Given the description of an element on the screen output the (x, y) to click on. 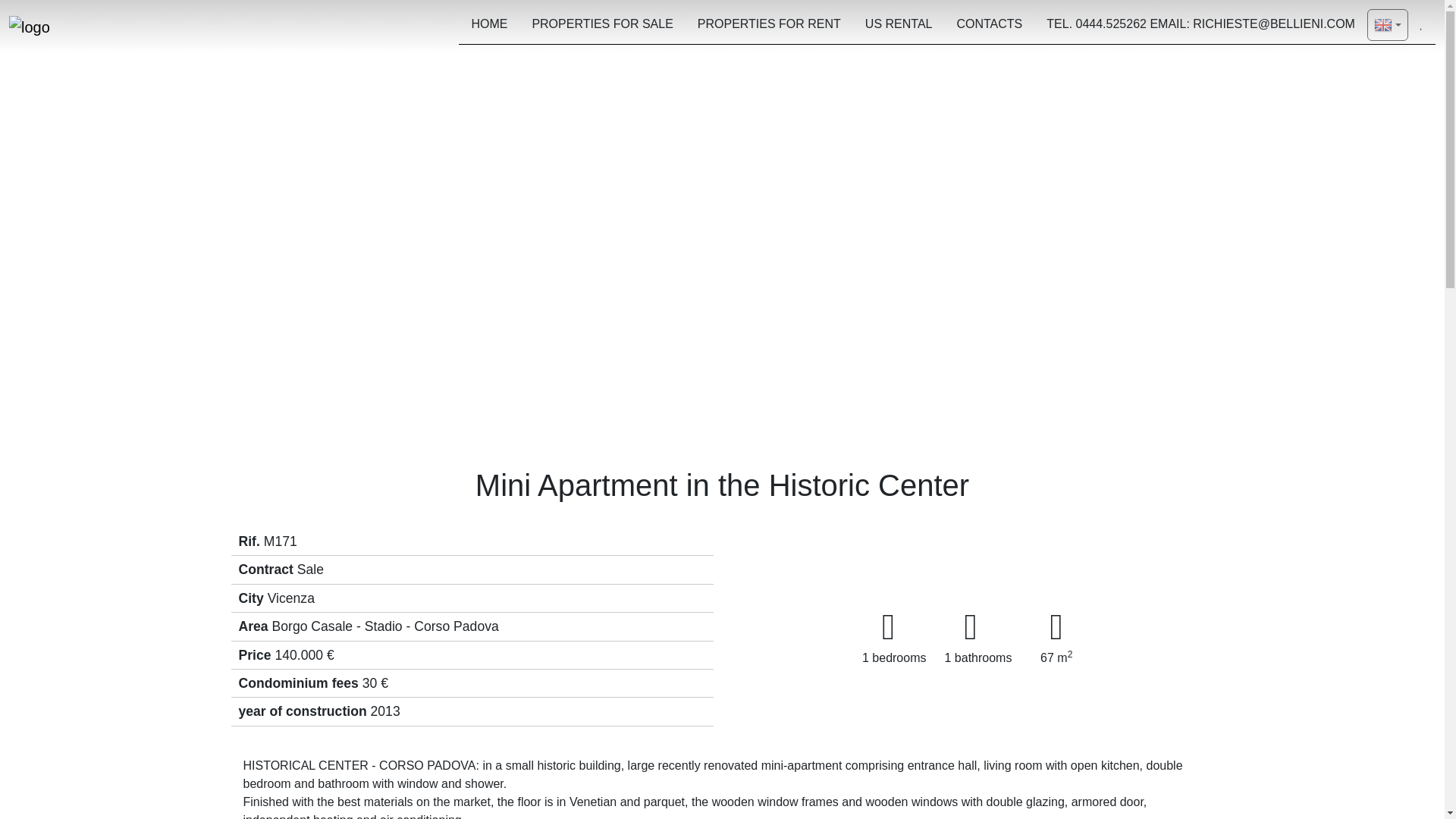
PROPERTIES FOR SALE (601, 26)
HOME (488, 26)
PROPERTIES FOR RENT (769, 26)
US RENTAL (899, 26)
CONTACTS (988, 26)
